Given the description of an element on the screen output the (x, y) to click on. 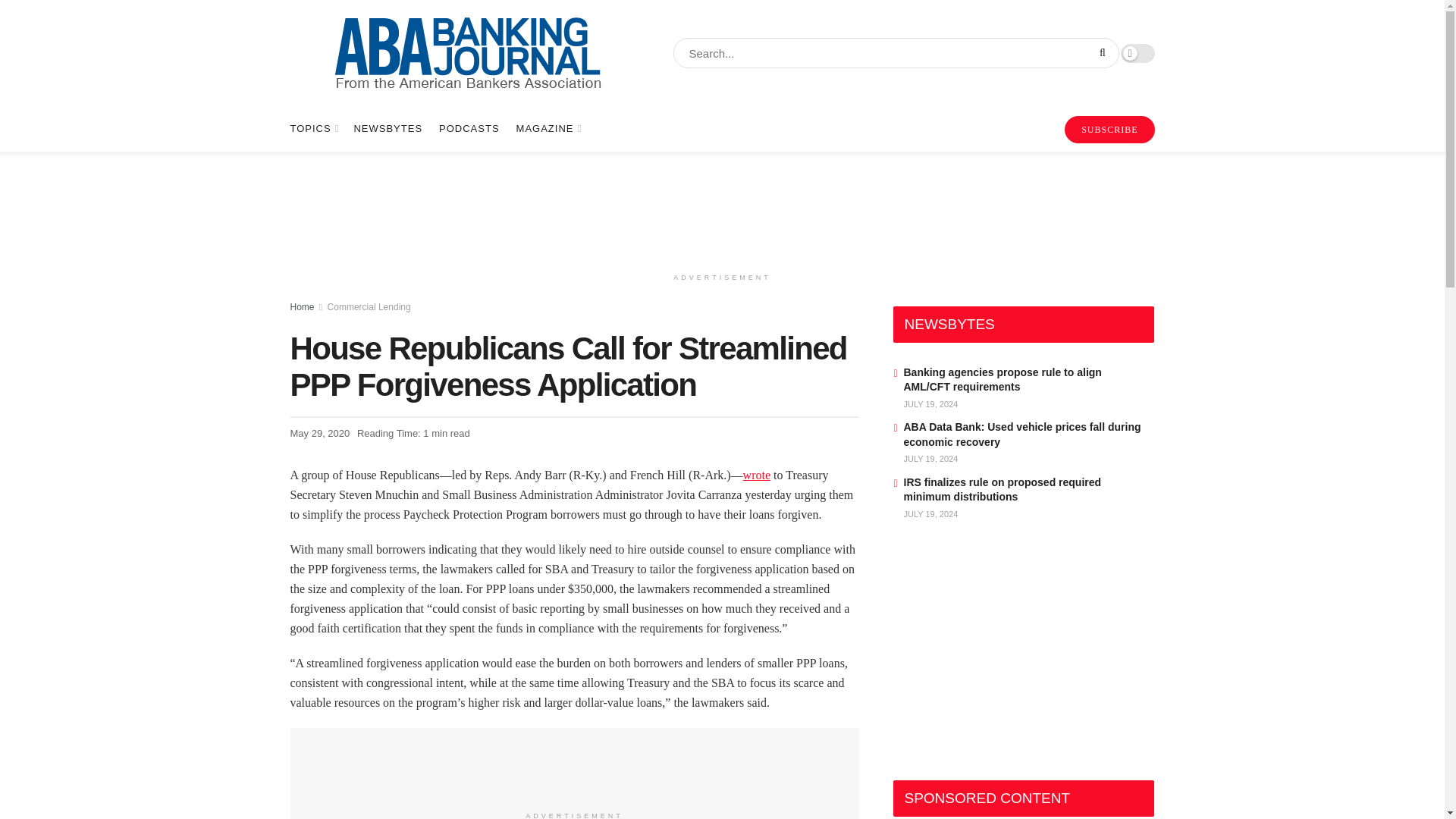
PODCASTS (469, 128)
SUBSCRIBE (1109, 129)
3rd party ad content (721, 208)
3rd party ad content (1007, 655)
TOPICS (312, 128)
NEWSBYTES (387, 128)
MAGAZINE (547, 128)
3rd party ad content (574, 769)
